Given the description of an element on the screen output the (x, y) to click on. 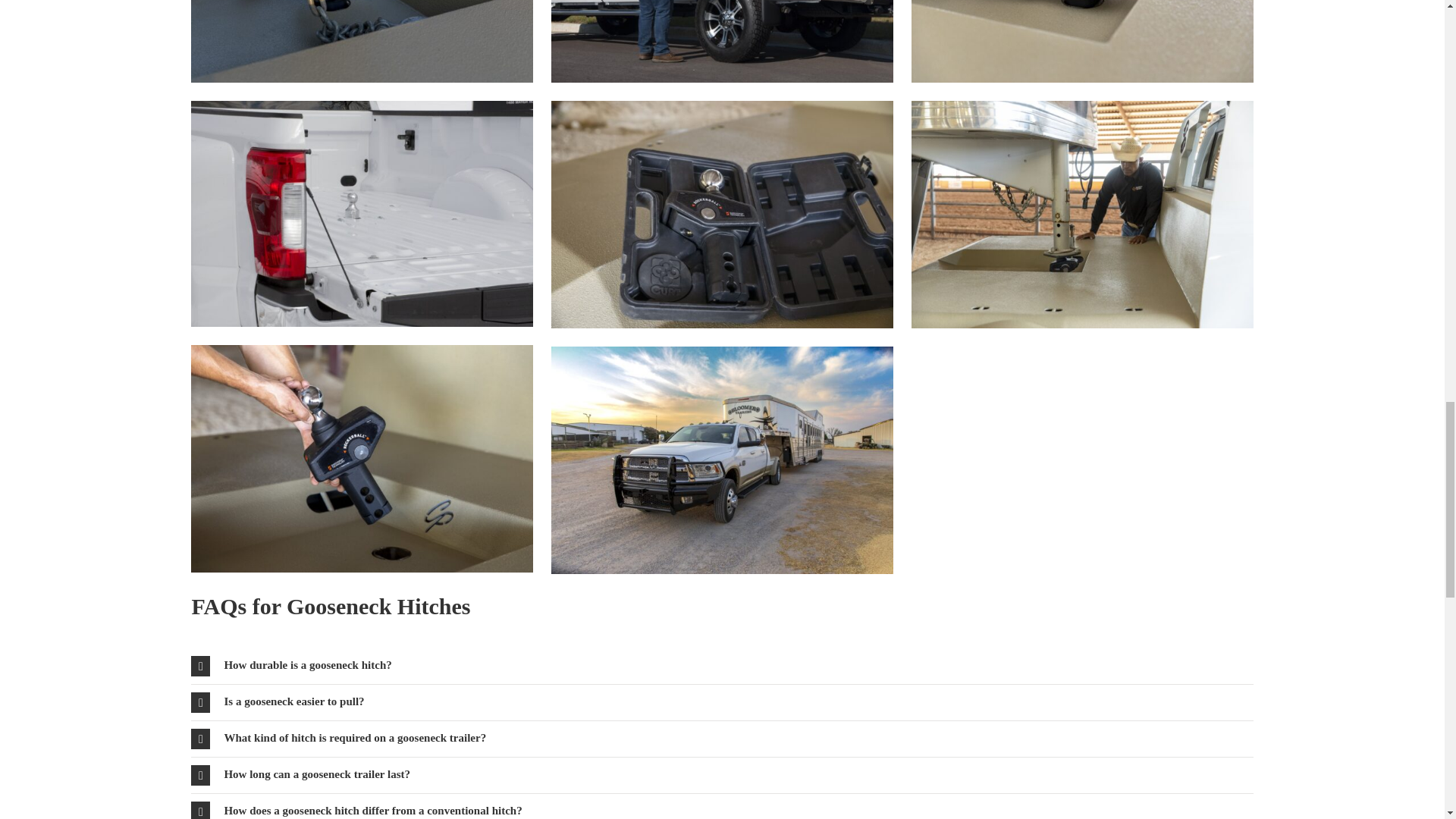
Gooseneck Hitch on Car (361, 213)
Truck With Gooseneck Hitch and Trailer (722, 460)
Gooseneck Equipment (361, 41)
Man Work On Tire (722, 41)
Gooseneck Hitch Installation (1082, 41)
Rockerball Hitch Kit (722, 214)
Men Installing A Gooseneck Hitch (1082, 214)
Man Using A Gooseneck hitch Rockerball (361, 458)
